Given the description of an element on the screen output the (x, y) to click on. 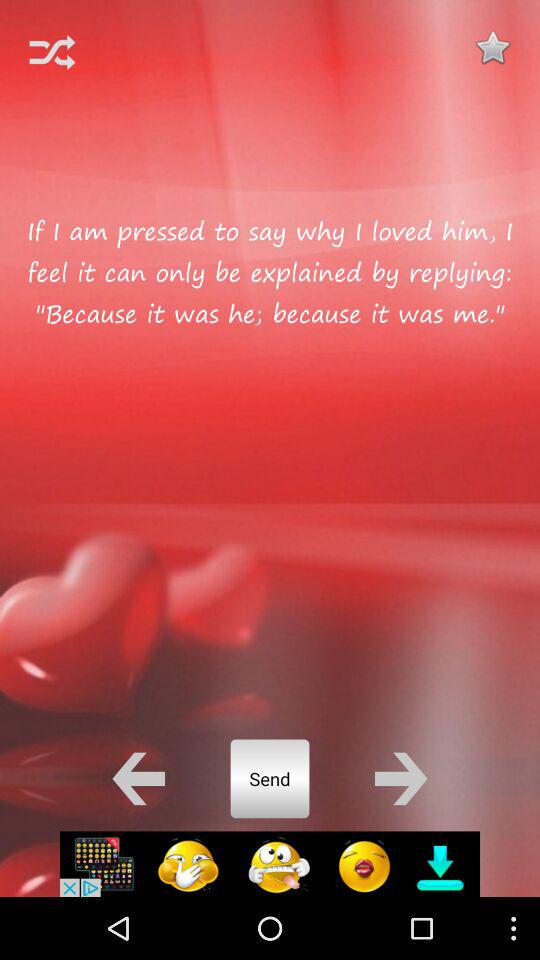
connect (52, 52)
